Given the description of an element on the screen output the (x, y) to click on. 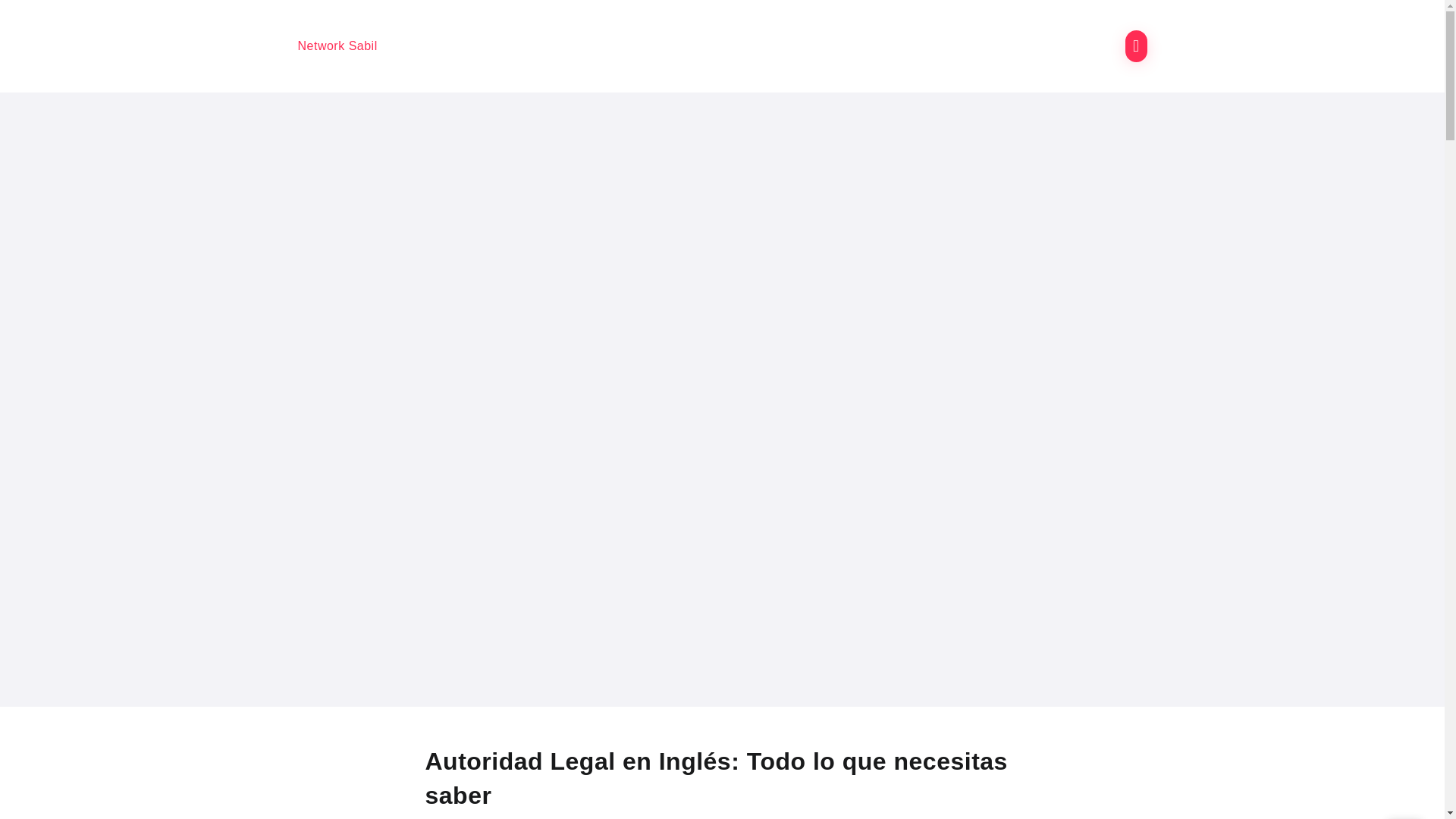
Network Sabil (337, 46)
